Given the description of an element on the screen output the (x, y) to click on. 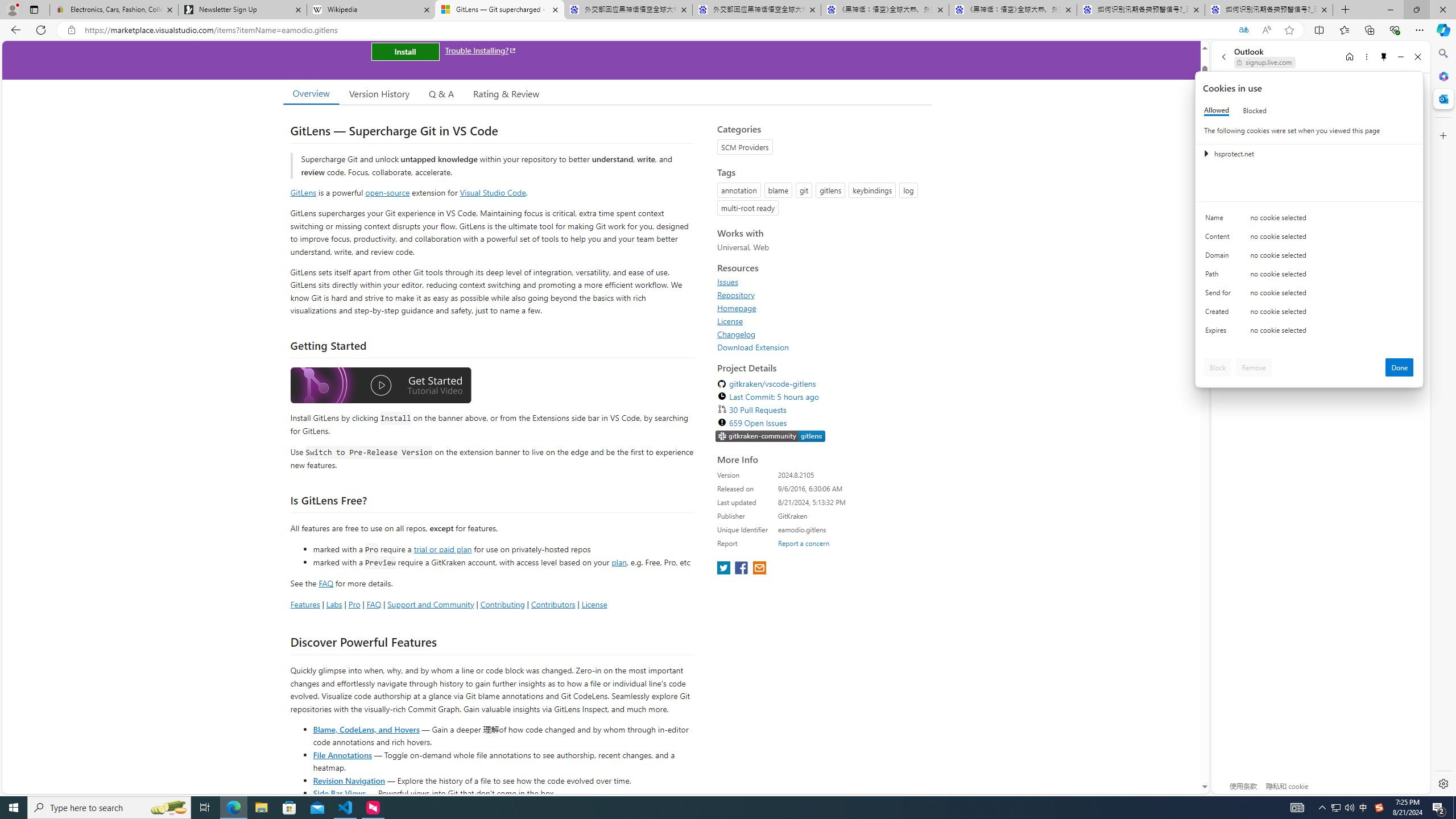
Watch the GitLens Getting Started video (380, 387)
Pro (354, 603)
Repository (820, 294)
trial or paid plan (442, 548)
Changelog (736, 333)
